Given the description of an element on the screen output the (x, y) to click on. 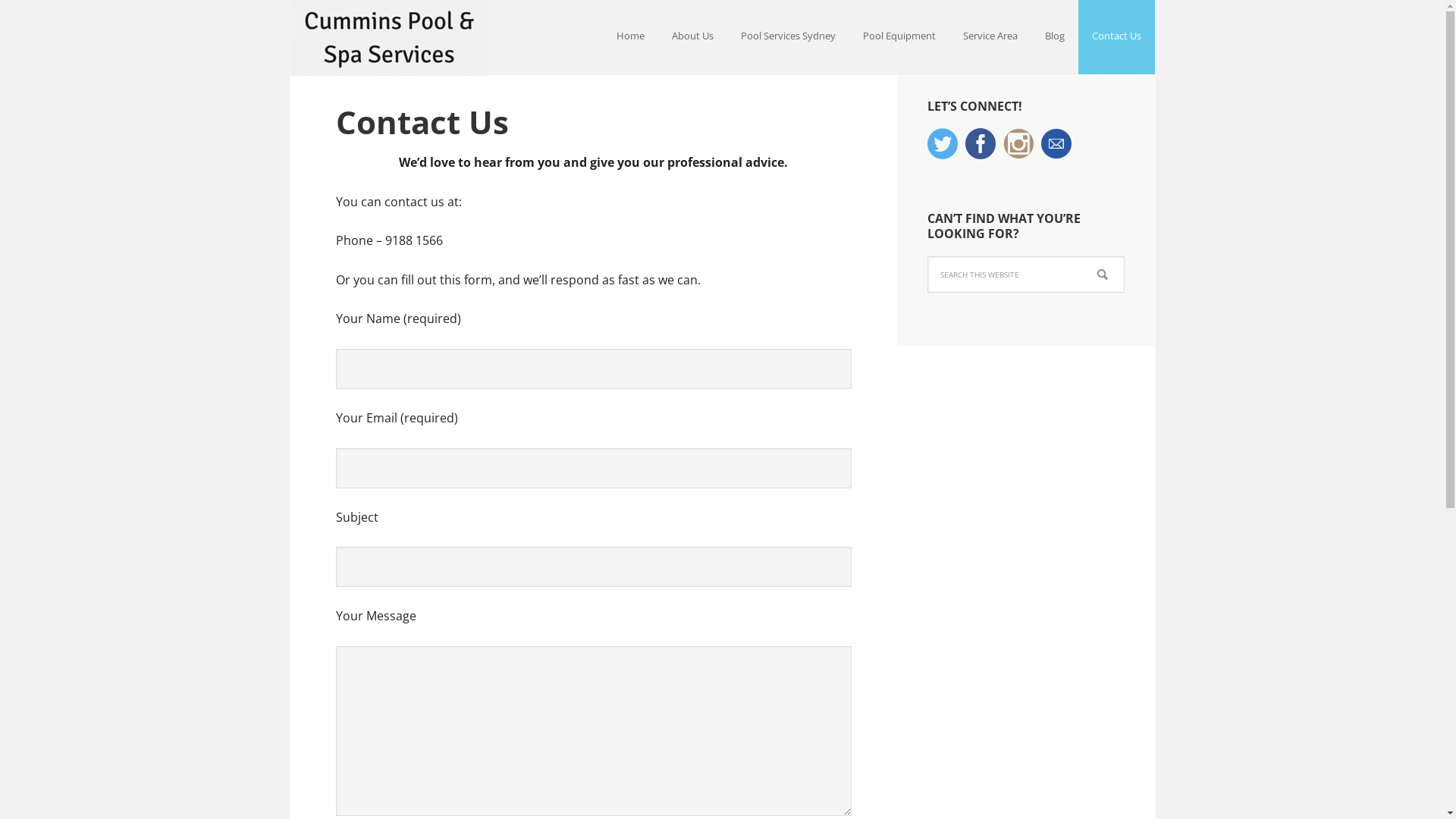
Pool Services Sydney Element type: text (787, 37)
Cummins Pool & Spa Services Element type: text (387, 37)
About Us Element type: text (692, 37)
Home Element type: text (629, 37)
Search Element type: text (1123, 255)
Blog Element type: text (1054, 37)
Contact Us Element type: text (1116, 37)
Pool Equipment Element type: text (899, 37)
Service Area Element type: text (990, 37)
